Given the description of an element on the screen output the (x, y) to click on. 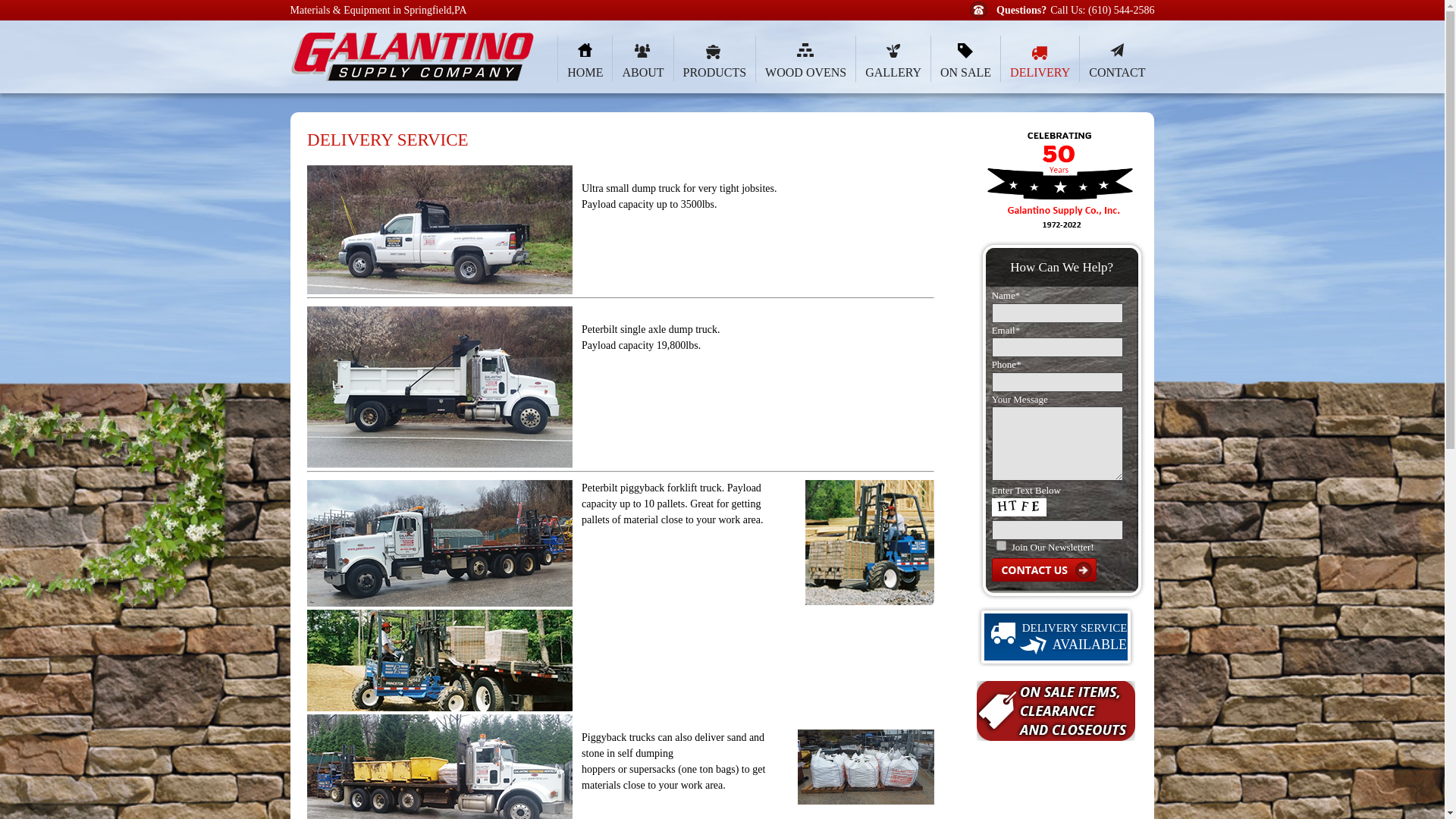
Contact Us (1043, 569)
GALLERY (893, 58)
CONTACT (1116, 58)
DELIVERY (1039, 58)
PRODUCTS (713, 58)
HOME (584, 58)
WOOD OVENS (805, 58)
ON SALE (965, 58)
Contact Us (1043, 569)
ABOUT (641, 58)
